Given the description of an element on the screen output the (x, y) to click on. 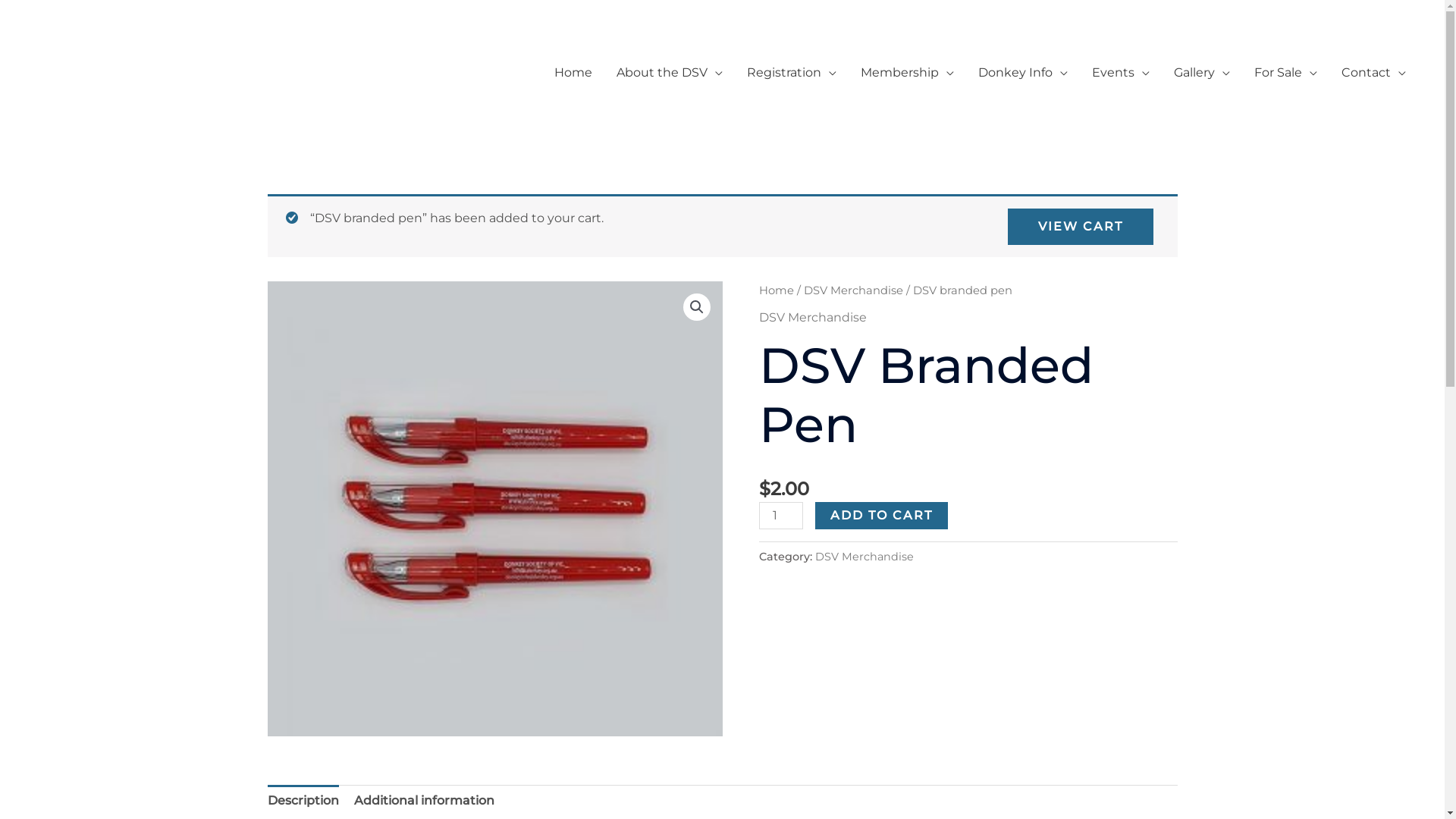
For Sale Element type: text (1285, 72)
Registration Element type: text (791, 72)
Events Element type: text (1120, 72)
About the DSV Element type: text (669, 72)
DSV Merchandise Element type: text (812, 317)
Contact Element type: text (1373, 72)
Home Element type: text (573, 72)
DSV Merchandise Element type: text (863, 556)
Gallery Element type: text (1201, 72)
Home Element type: text (775, 290)
Membership Element type: text (907, 72)
Description Element type: text (302, 800)
20201009_171855 Element type: hover (493, 508)
DSV Merchandise Element type: text (853, 290)
VIEW CART Element type: text (1079, 226)
Donkey Info Element type: text (1022, 72)
ADD TO CART Element type: text (881, 515)
Additional information Element type: text (423, 800)
